Given the description of an element on the screen output the (x, y) to click on. 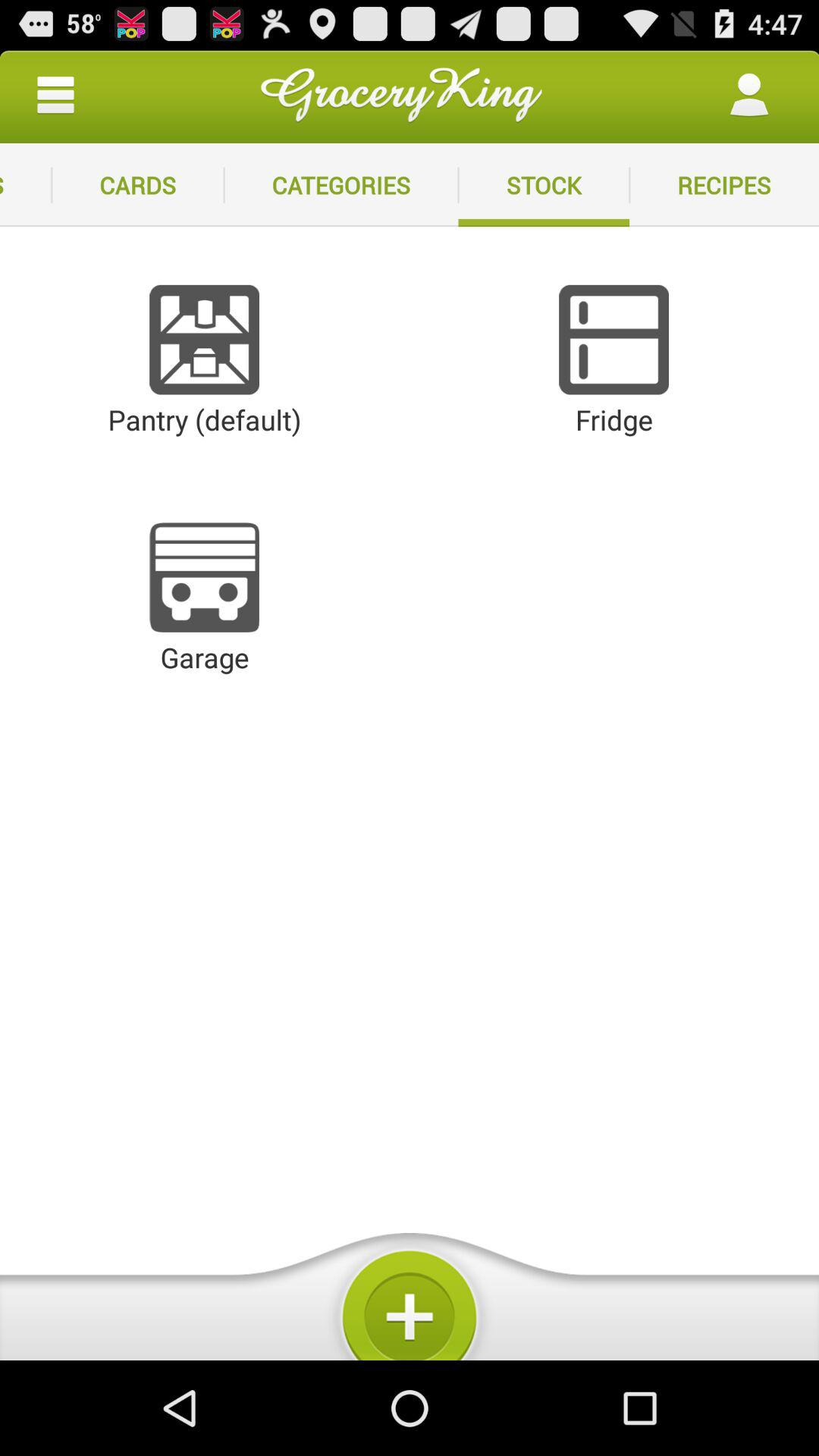
turn off the stock app (543, 184)
